Given the description of an element on the screen output the (x, y) to click on. 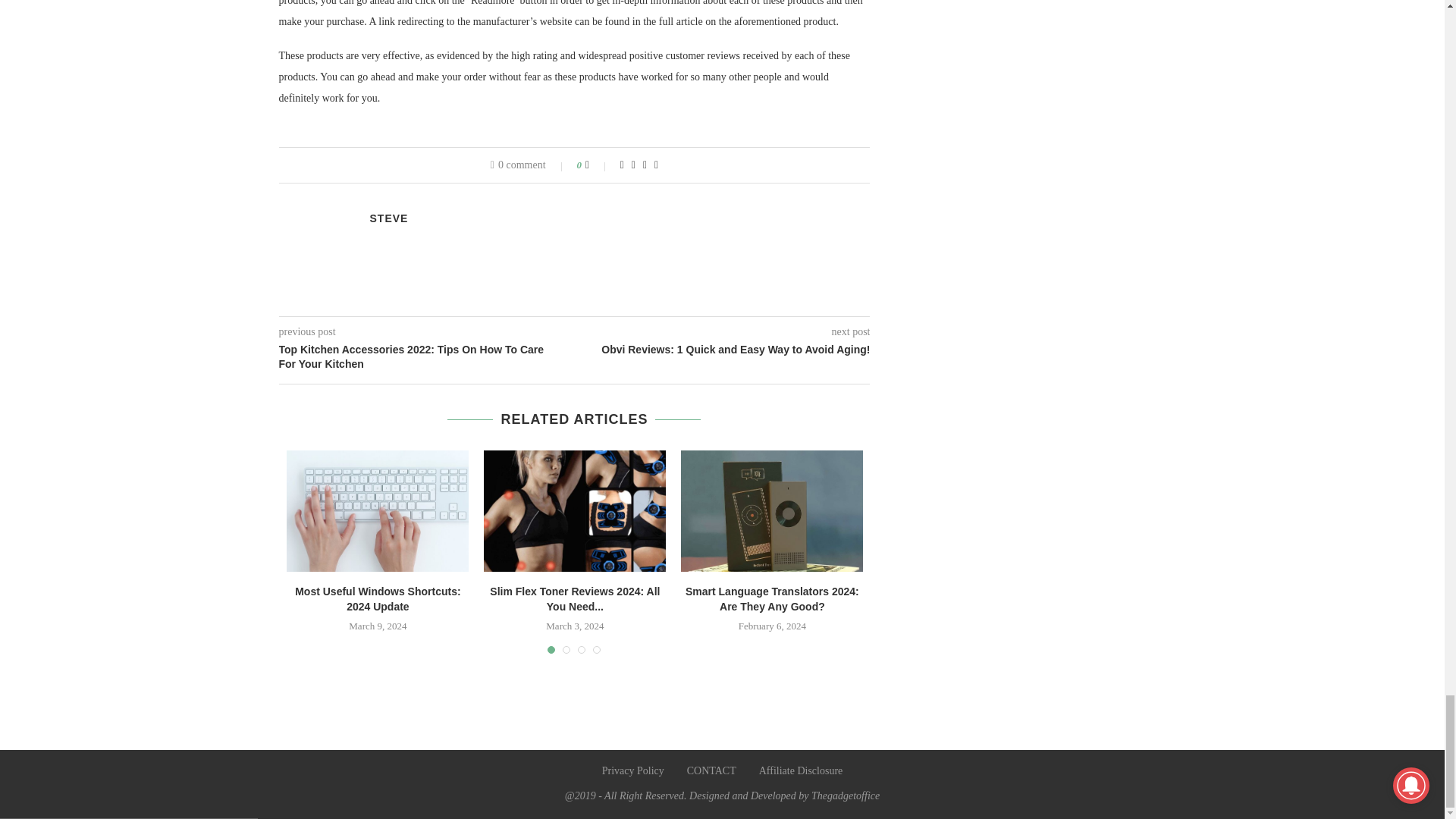
Most Useful Windows Shortcuts: 2024 Update (377, 510)
Slim Flex Toner Reviews 2024: All You Need To Know! (574, 510)
Posts by Steve (389, 218)
Smart Language Translators 2024: Are They Any Good? (772, 510)
Like (597, 164)
